Given the description of an element on the screen output the (x, y) to click on. 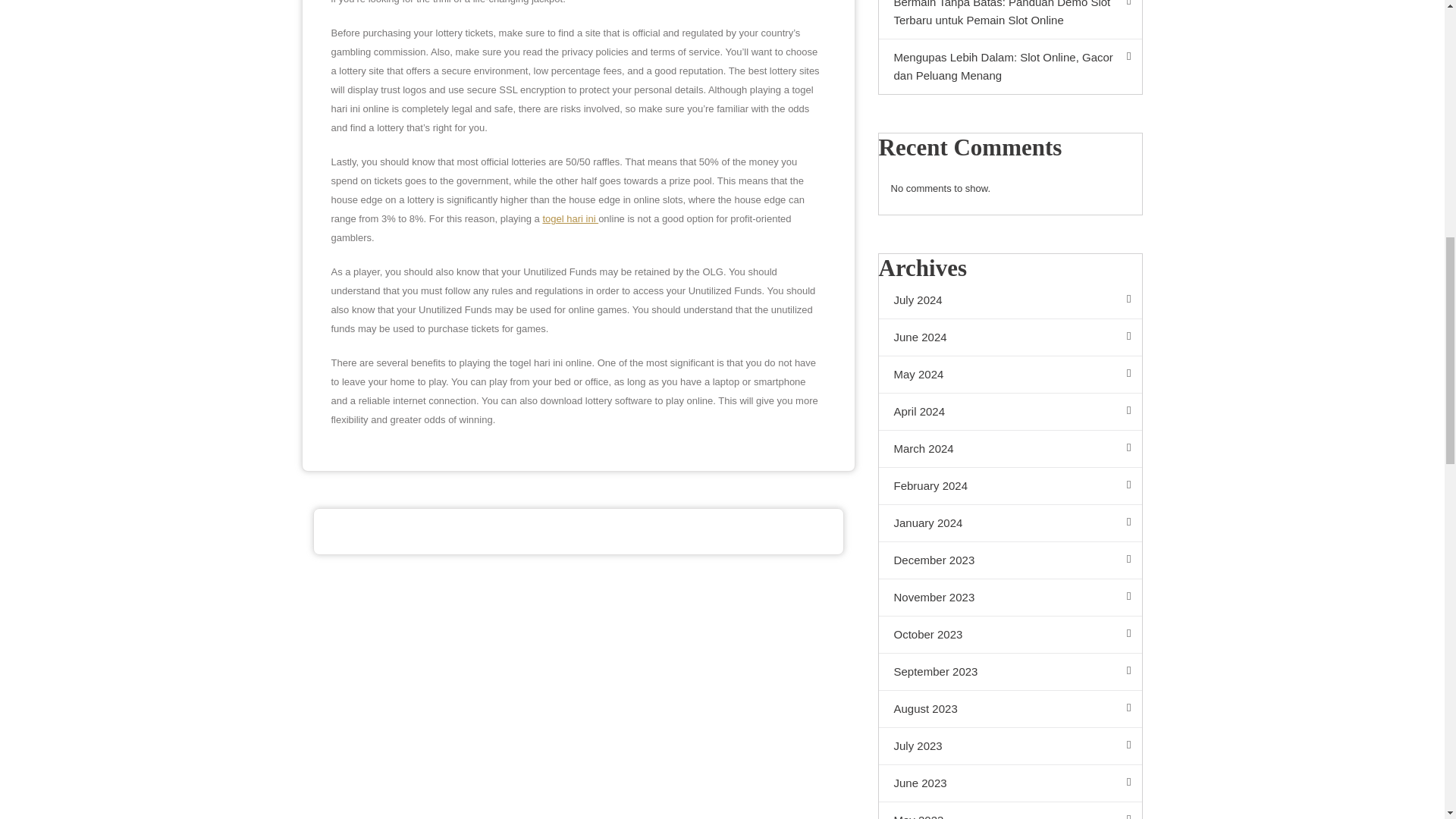
Mengupas Lebih Dalam: Slot Online, Gacor dan Peluang Menang (1009, 66)
July 2023 (1009, 746)
August 2023 (1009, 709)
June 2024 (1009, 337)
July 2024 (1009, 300)
January 2024 (1009, 523)
December 2023 (1009, 560)
February 2024 (1009, 486)
March 2024 (1009, 448)
May 2024 (1009, 374)
October 2023 (1009, 634)
April 2024 (1009, 411)
May 2023 (1009, 810)
November 2023 (1009, 597)
